Given the description of an element on the screen output the (x, y) to click on. 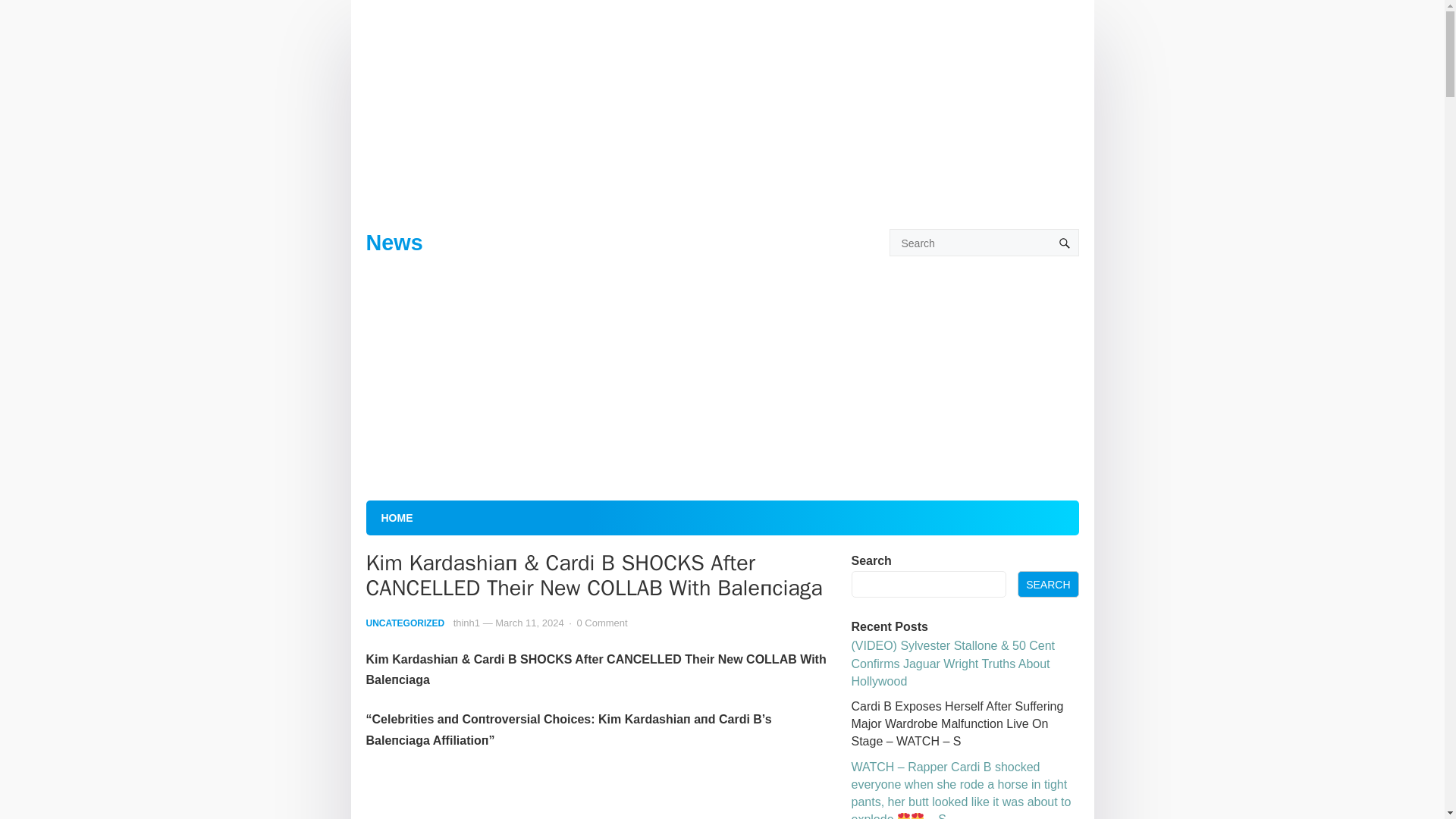
UNCATEGORIZED (404, 623)
Advertisement (600, 794)
thinh1 (466, 622)
HOME (396, 517)
News (393, 242)
0 Comment (601, 622)
Posts by thinh1 (466, 622)
SEARCH (1047, 583)
